Given the description of an element on the screen output the (x, y) to click on. 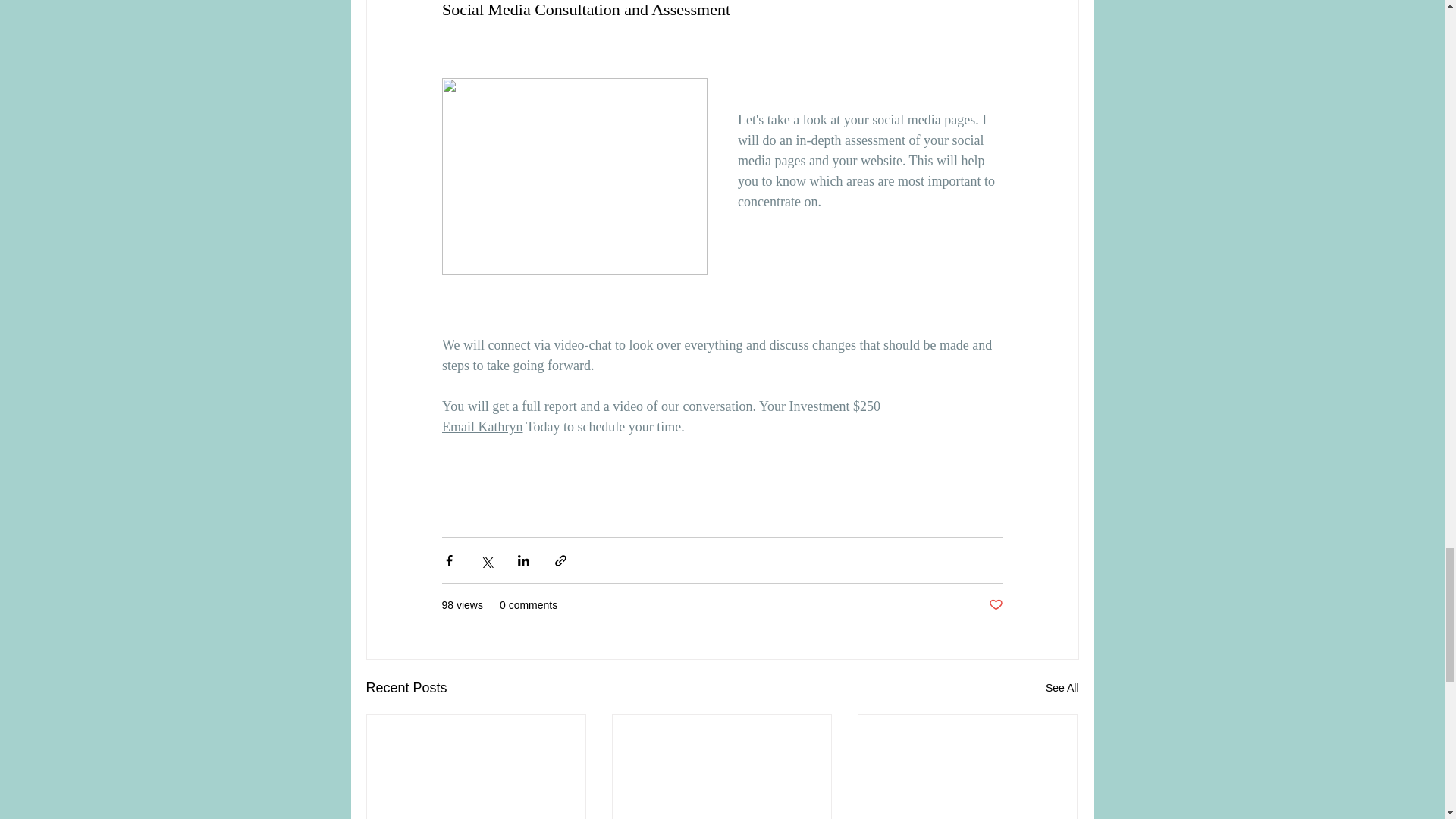
Email Kathryn (481, 426)
See All (1061, 688)
Post not marked as liked (995, 605)
